Given the description of an element on the screen output the (x, y) to click on. 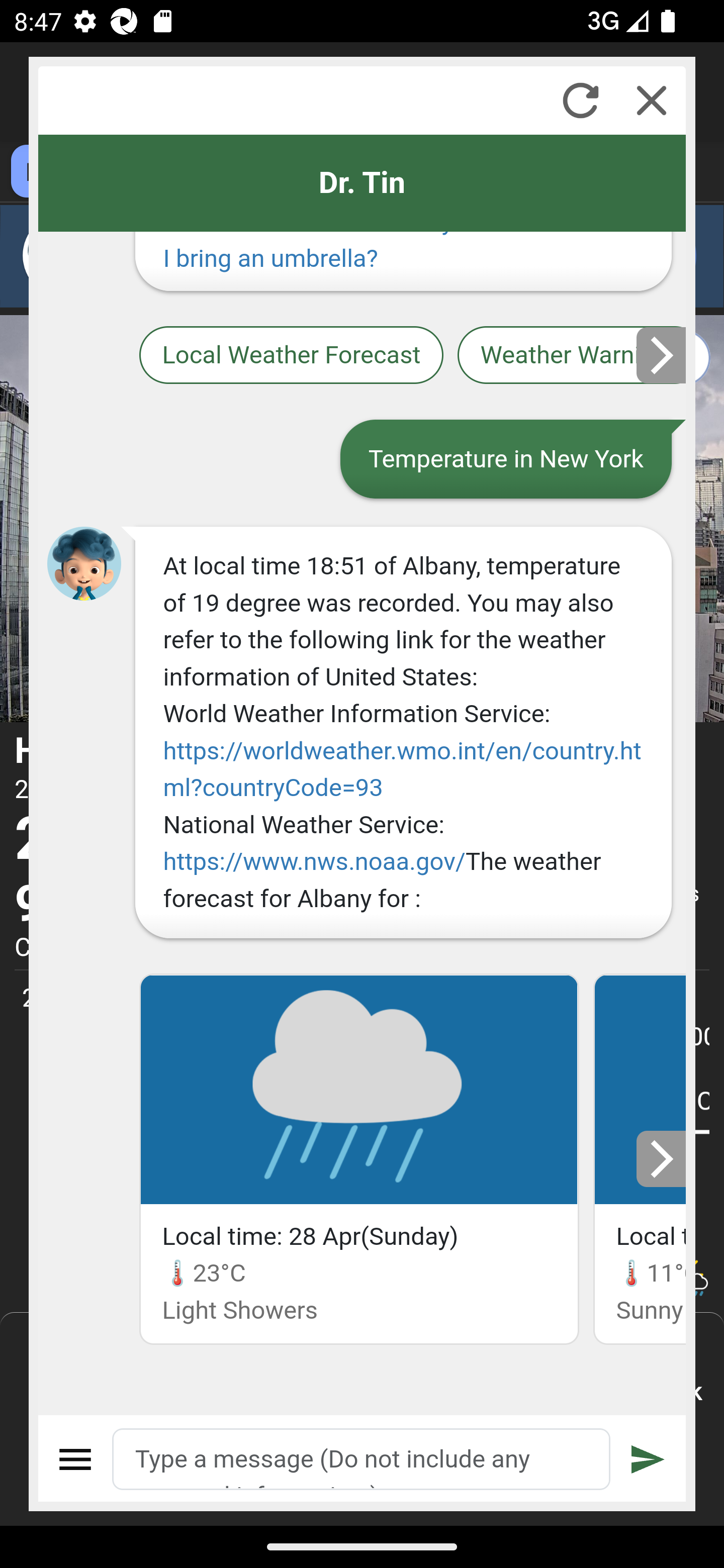
Refresh (580, 100)
Close (651, 100)
Local Weather Forecast (291, 354)
Weather Warnings (571, 354)
Next slide (661, 355)
https://www.nws.noaa.gov/ (314, 861)
Next slide (661, 1159)
Menu (75, 1458)
Submit (648, 1458)
